Given the description of an element on the screen output the (x, y) to click on. 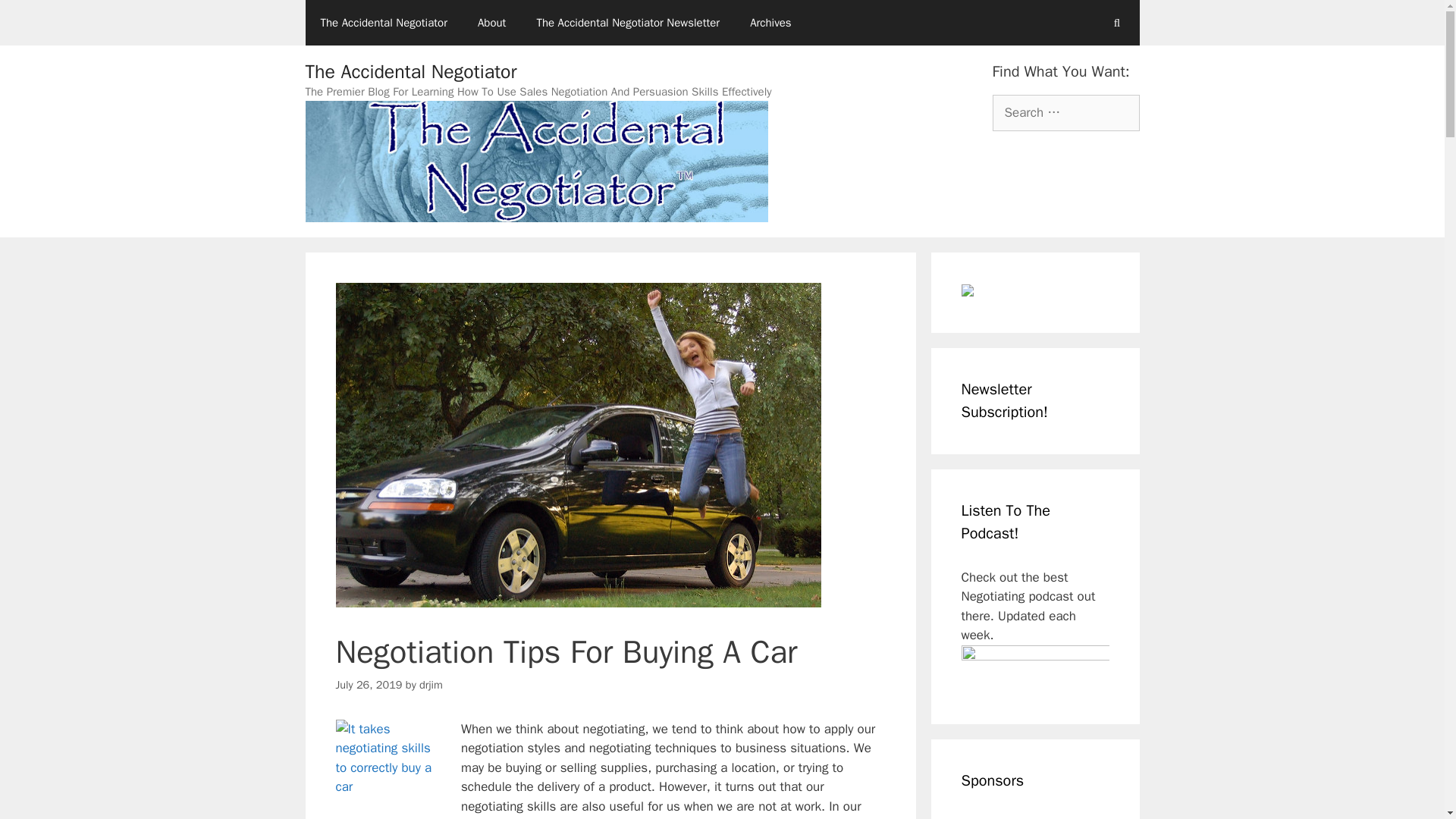
Search (35, 18)
About (492, 22)
The Accidental Negotiator (382, 22)
The Accidental Negotiator (410, 71)
The Accidental Negotiator Newsletter (628, 22)
drjim (430, 684)
Archives (770, 22)
View all posts by drjim (430, 684)
Search for: (1064, 113)
